Given the description of an element on the screen output the (x, y) to click on. 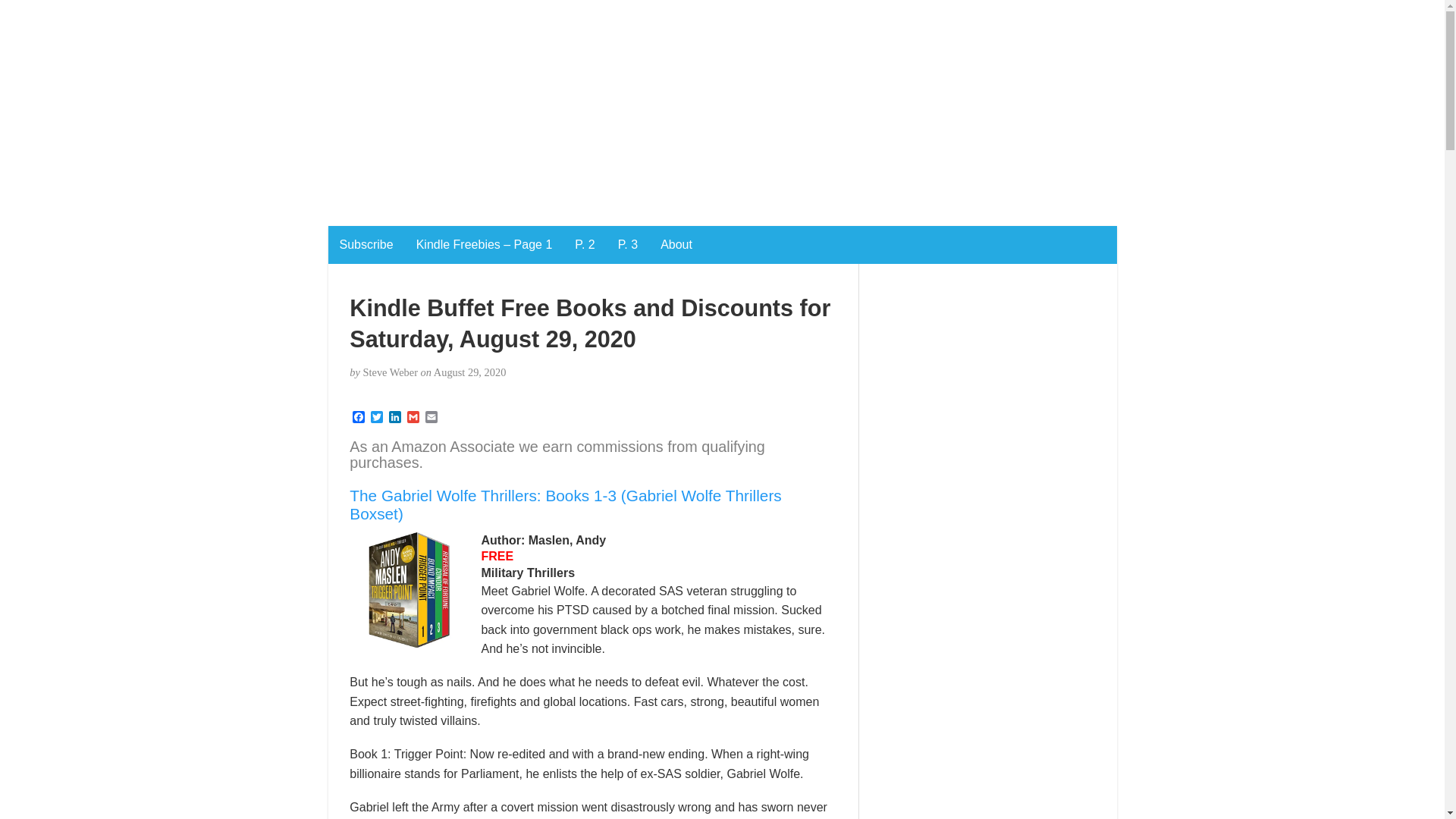
Gmail (413, 418)
LinkedIn (394, 418)
Email (431, 418)
Gmail (413, 418)
P. 2 (584, 244)
Twitter (376, 418)
P. 3 (628, 244)
LinkedIn (394, 418)
P. 2 (584, 244)
About (676, 244)
